Given the description of an element on the screen output the (x, y) to click on. 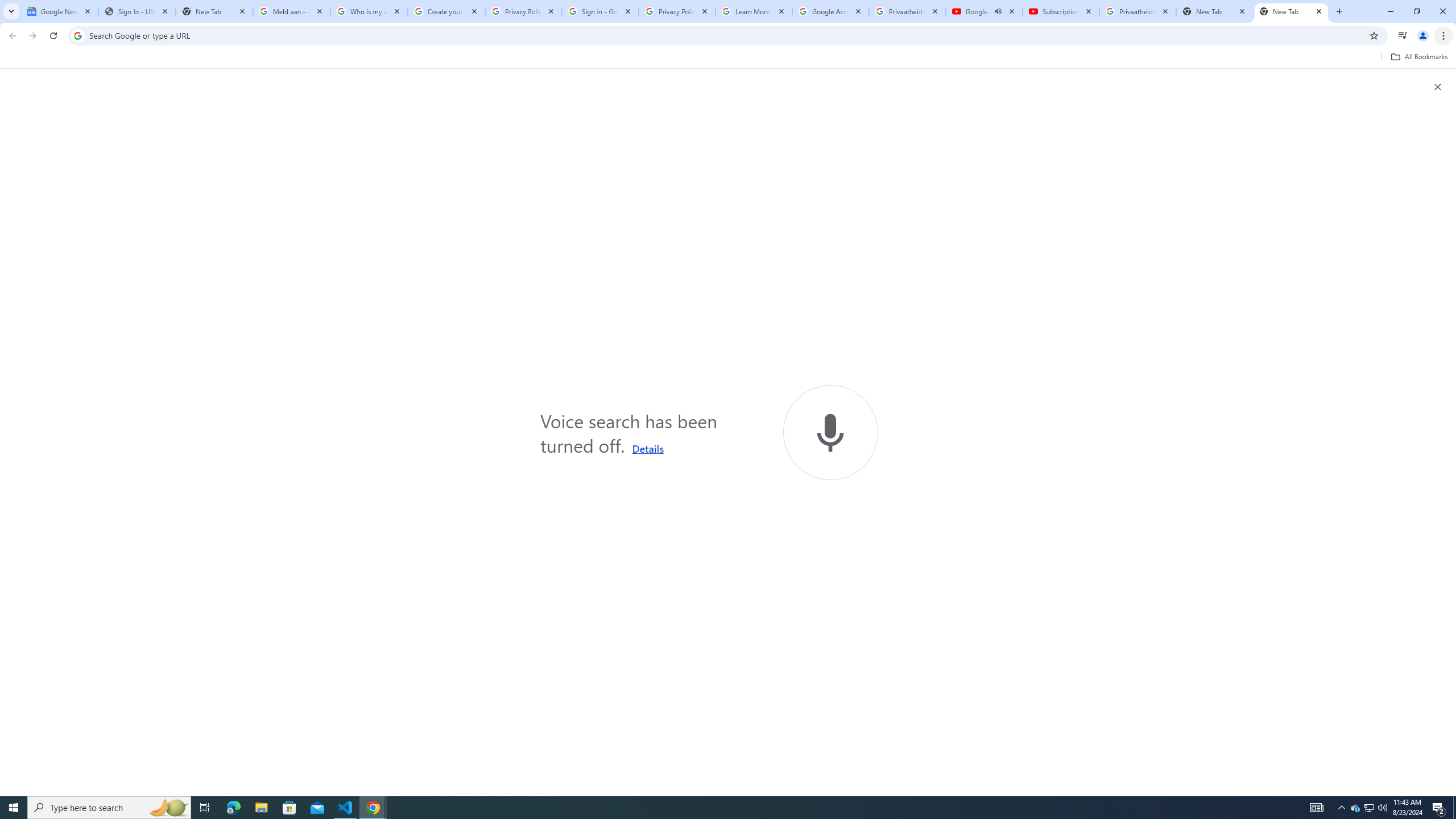
Create your Google Account (446, 11)
Bookmarks (728, 58)
New Tab (1291, 11)
Who is my administrator? - Google Account Help (368, 11)
Google Account (830, 11)
